Given the description of an element on the screen output the (x, y) to click on. 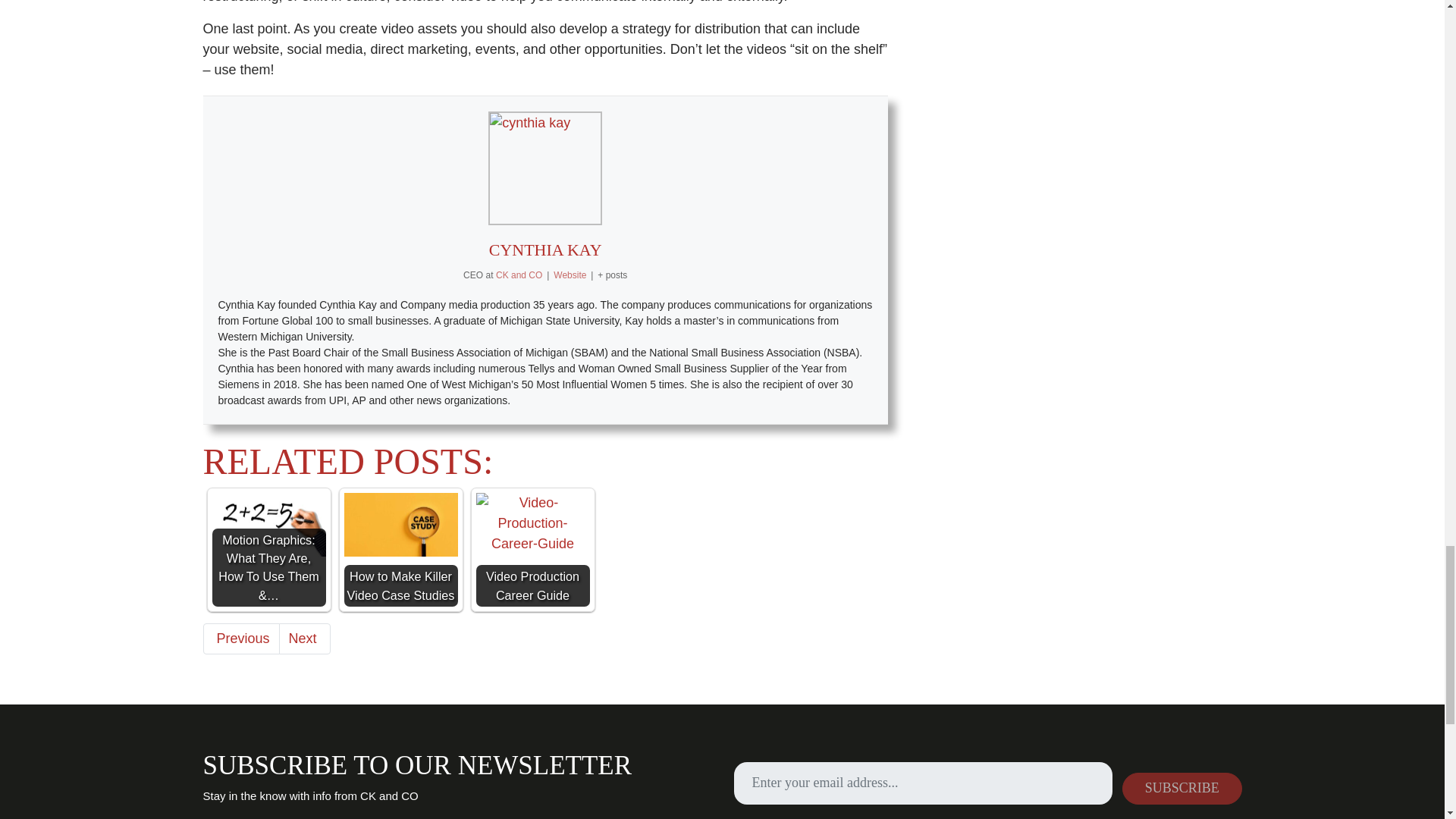
CK and CO (518, 275)
Video Production Career Guide (532, 523)
Previous (241, 638)
How to Make Killer Video Case Studies (400, 549)
Next (304, 638)
How to Make Killer Video Case Studies (400, 524)
Subscribe (1181, 788)
Website (569, 275)
Video Production Career Guide (532, 549)
CYNTHIA KAY (545, 249)
